Given the description of an element on the screen output the (x, y) to click on. 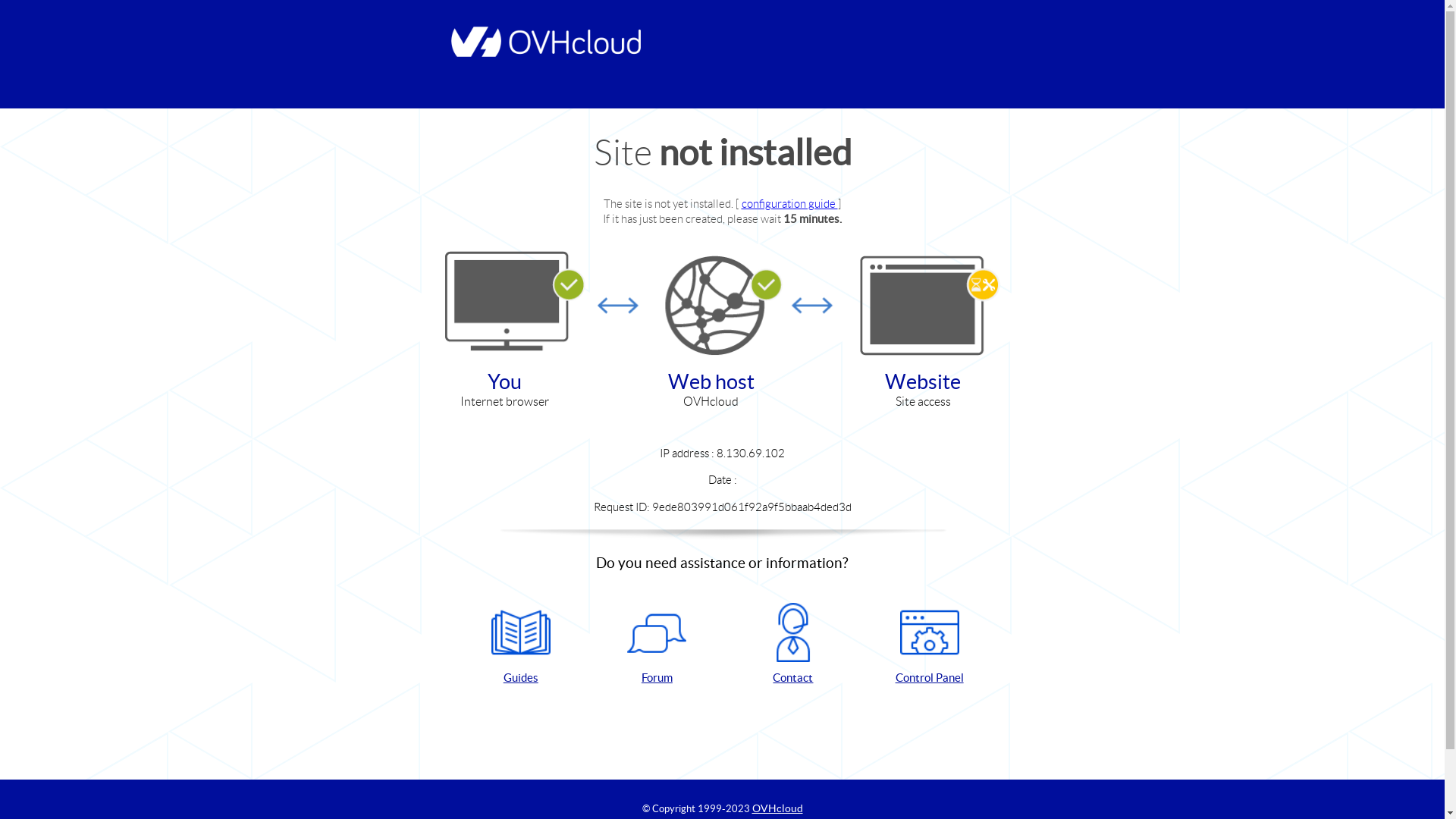
Control Panel Element type: text (929, 644)
Contact Element type: text (792, 644)
Guides Element type: text (520, 644)
Forum Element type: text (656, 644)
OVHcloud Element type: text (777, 808)
configuration guide Element type: text (789, 203)
